Given the description of an element on the screen output the (x, y) to click on. 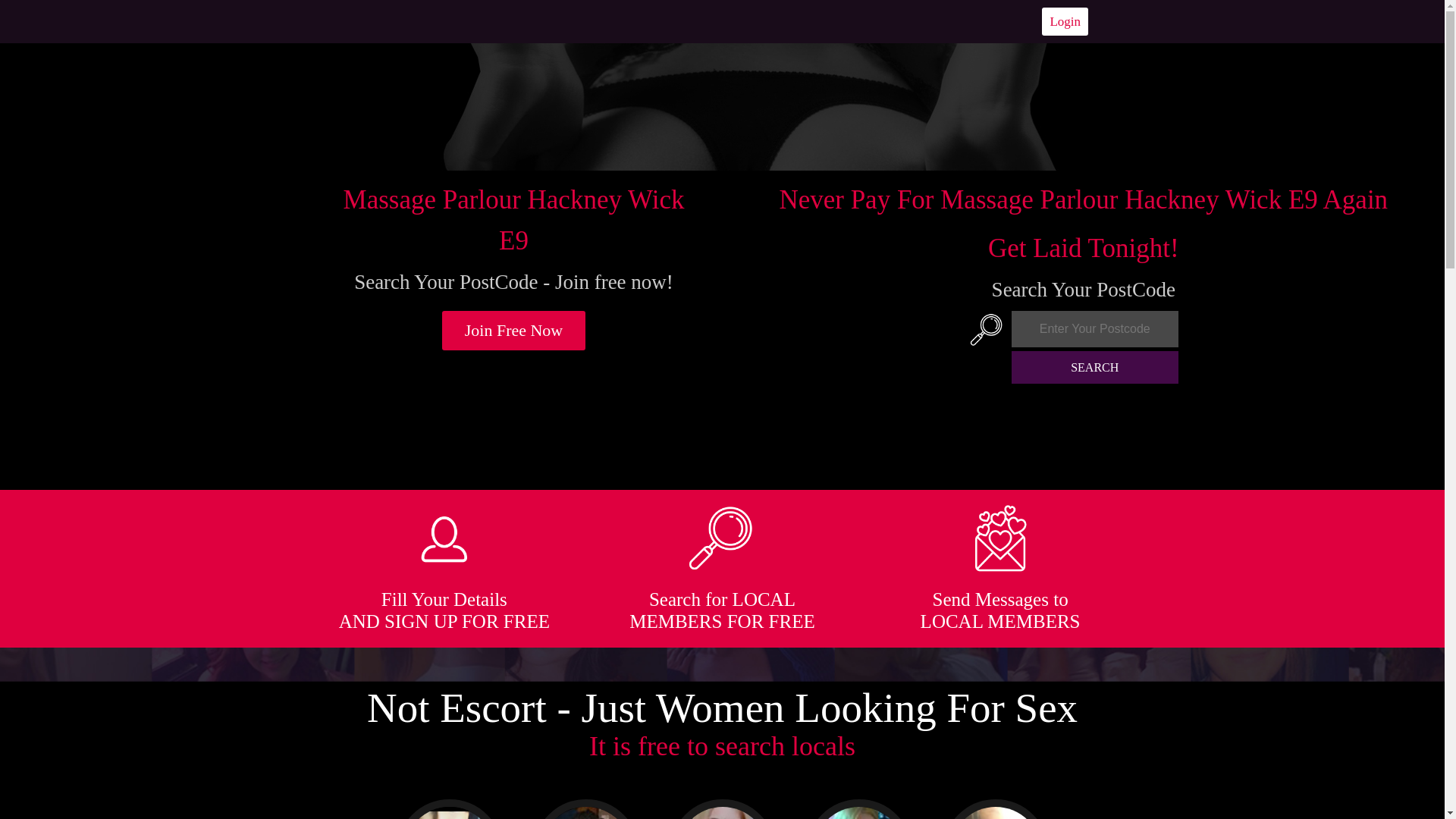
Join (514, 330)
Join Free Now (514, 330)
SEARCH (1094, 367)
Login (1064, 21)
Login to massageparlourlondon.co.uk (1064, 21)
